Given the description of an element on the screen output the (x, y) to click on. 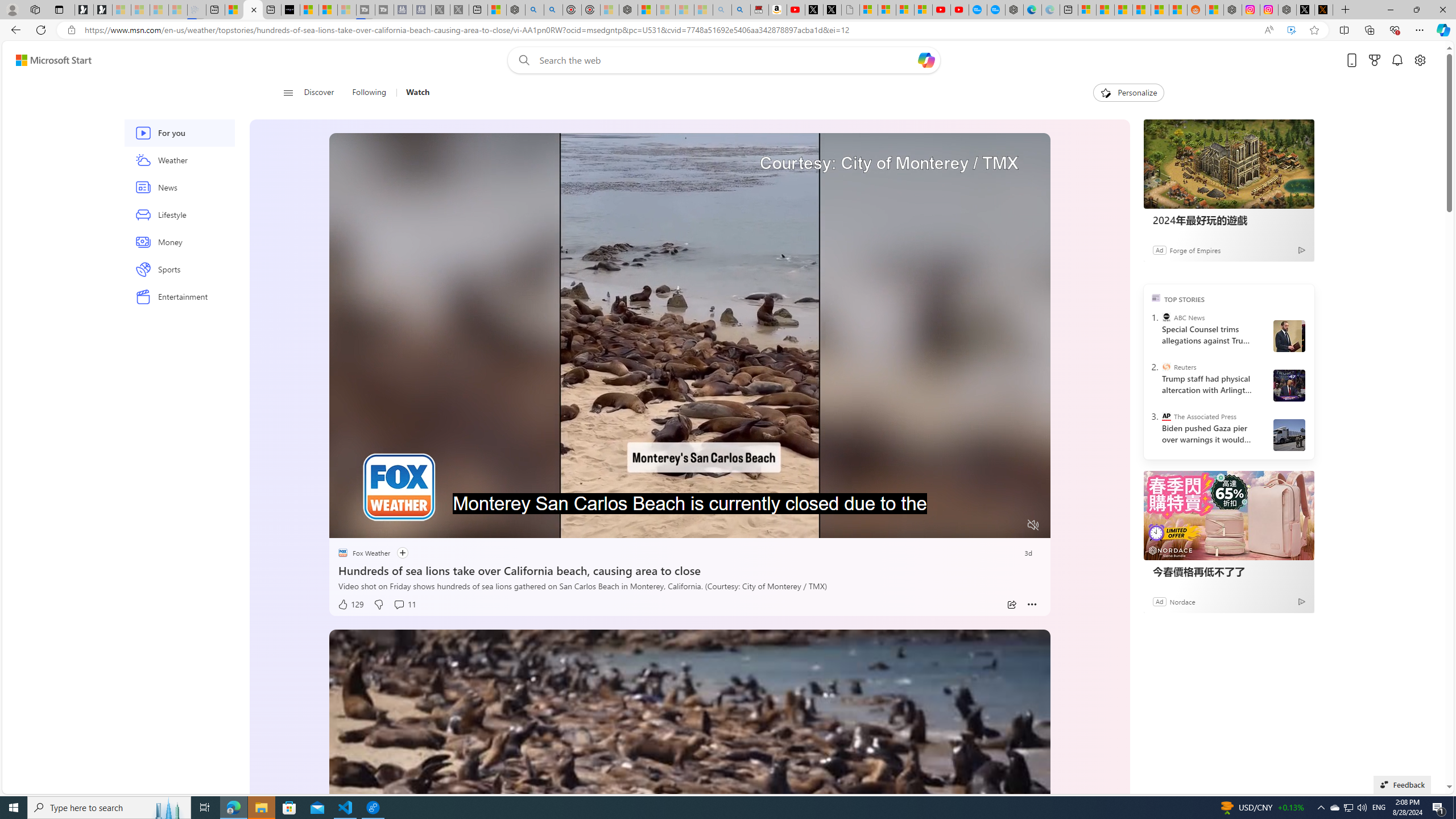
To get missing image descriptions, open the context menu. (368, 524)
Untitled (850, 9)
poe - Search (533, 9)
Open navigation menu (287, 92)
Newsletter Sign Up (102, 9)
